Given the description of an element on the screen output the (x, y) to click on. 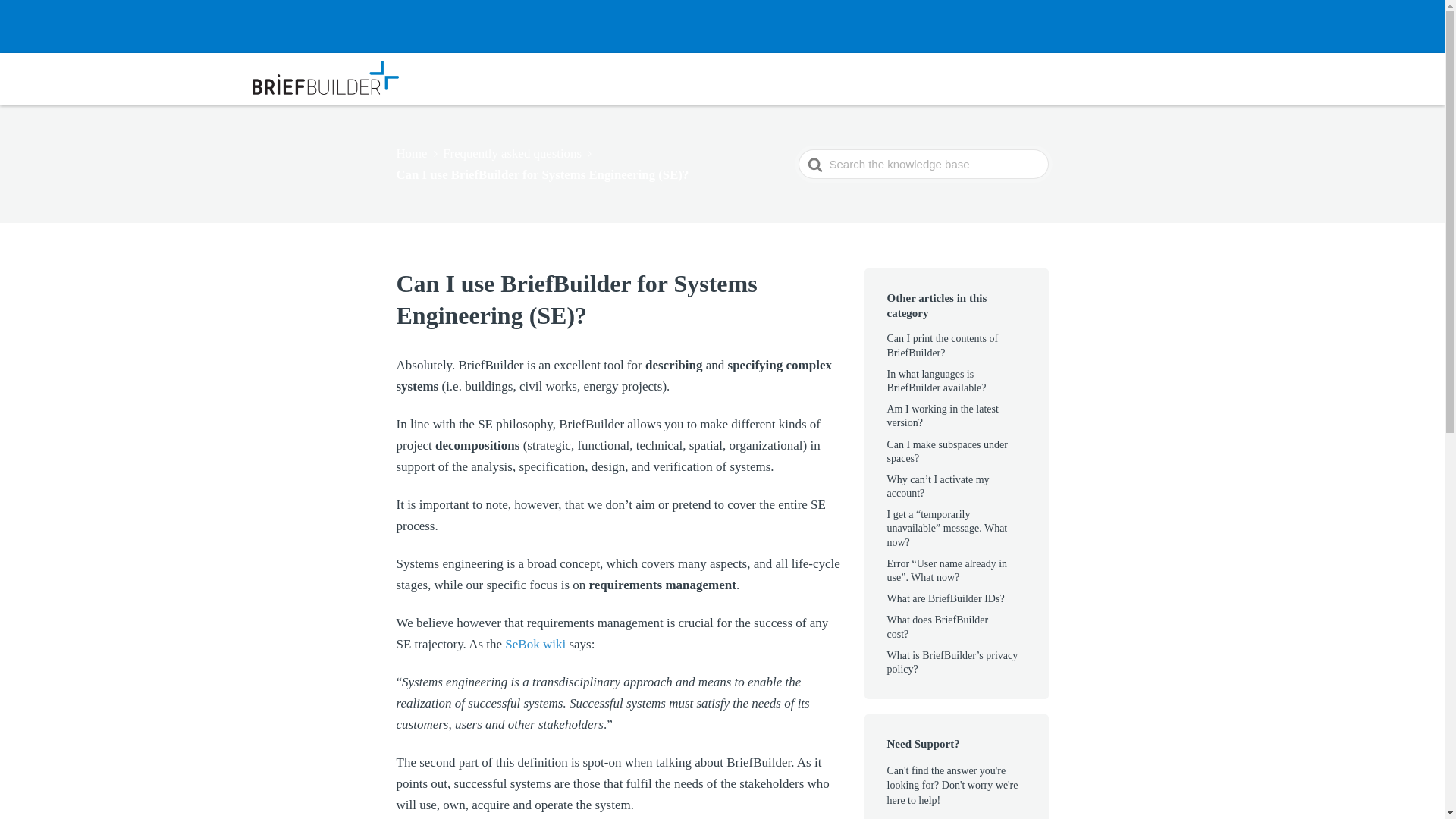
BriefBuilder.com (1093, 78)
What are BriefBuilder IDs? (954, 598)
Log in (1171, 78)
Can I print the contents of BriefBuilder? (942, 344)
Home (417, 153)
In what languages is BriefBuilder available? (946, 380)
Frequently asked questions (518, 153)
Can I make subspaces under spaces? (946, 451)
Am I working in the latest version? (942, 415)
What does BriefBuilder cost? (937, 626)
SeBok wiki (537, 644)
